Given the description of an element on the screen output the (x, y) to click on. 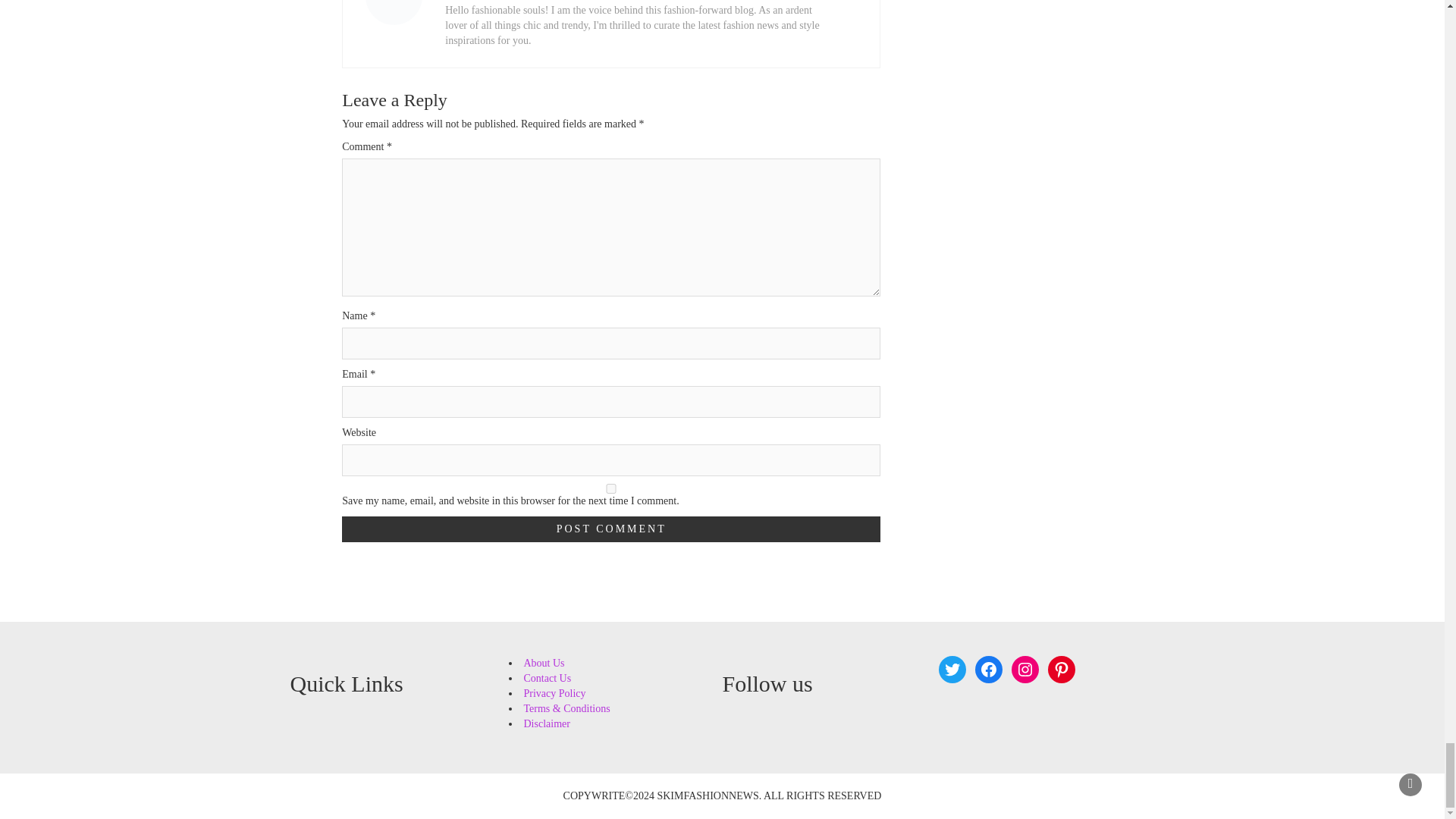
Post Comment (611, 529)
yes (611, 488)
